Given the description of an element on the screen output the (x, y) to click on. 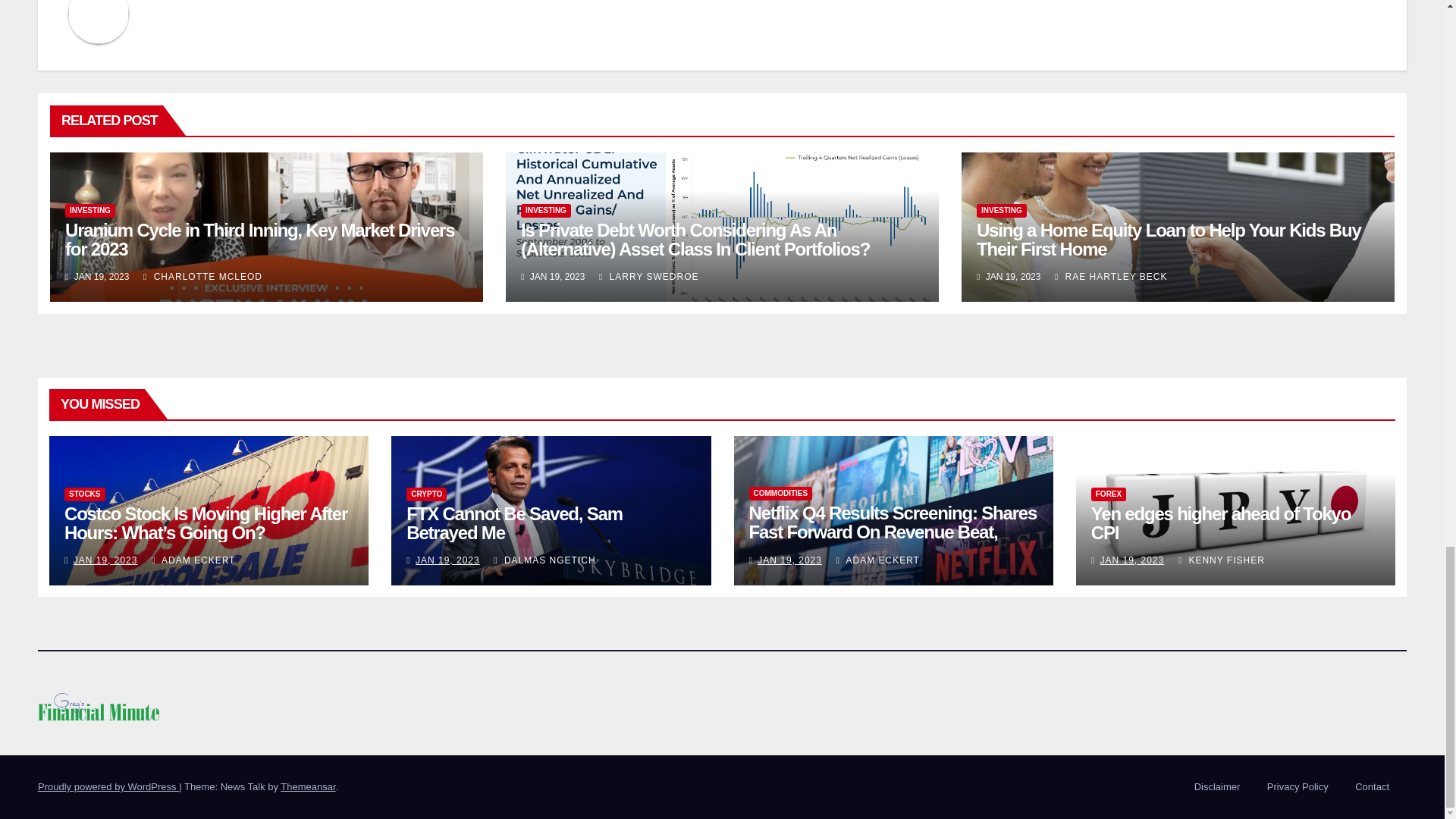
Uranium Cycle in Third Inning, Key Market Drivers for 2023 (259, 239)
INVESTING (545, 210)
Disclaimer (1217, 786)
INVESTING (90, 210)
Permalink to: Yen edges higher ahead of Tokyo CPI (1220, 522)
CHARLOTTE MCLEOD (202, 276)
Permalink to: FTX Cannot Be Saved, Sam Betrayed Me (514, 522)
